Given the description of an element on the screen output the (x, y) to click on. 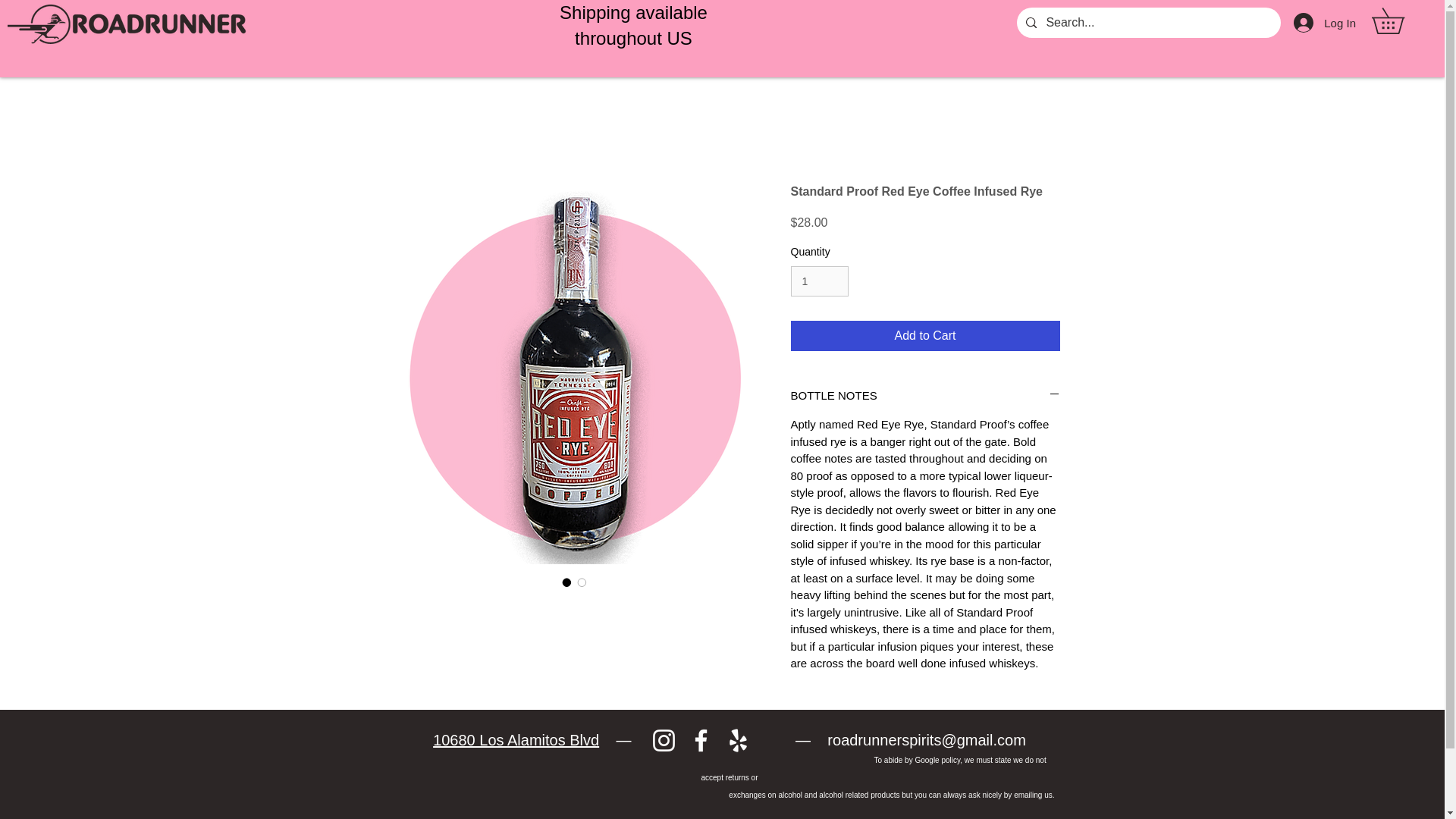
Log In (1324, 22)
1 (818, 281)
Add to Cart (924, 336)
BOTTLE NOTES (924, 395)
